Given the description of an element on the screen output the (x, y) to click on. 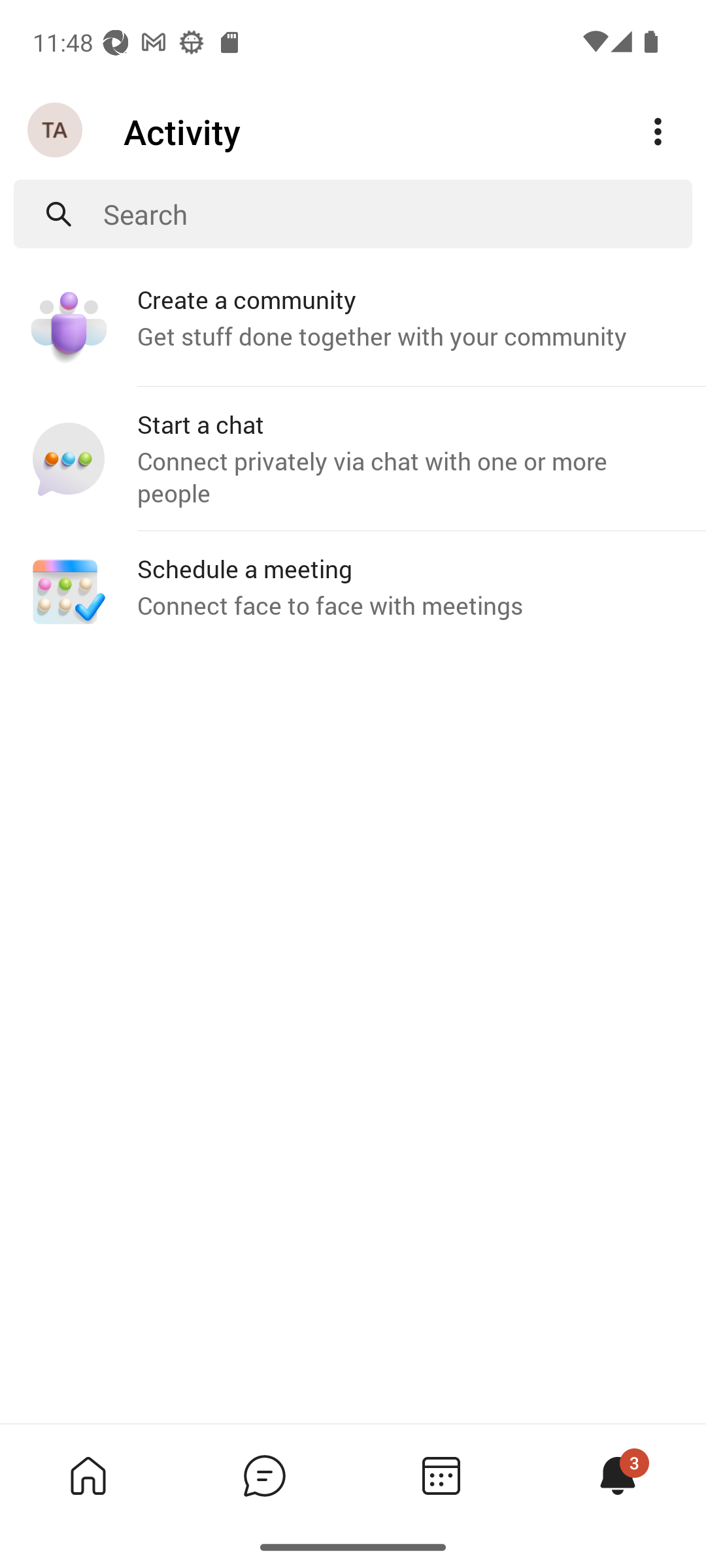
More options (657, 131)
Navigation (56, 130)
Search (397, 213)
Home tab,1 of 4, not selected (88, 1475)
Chat tab,2 of 4, not selected (264, 1475)
Calendar tab,3 of 4, not selected (441, 1475)
Activity tab, 4 of 4, 3 new 3 (617, 1475)
